Given the description of an element on the screen output the (x, y) to click on. 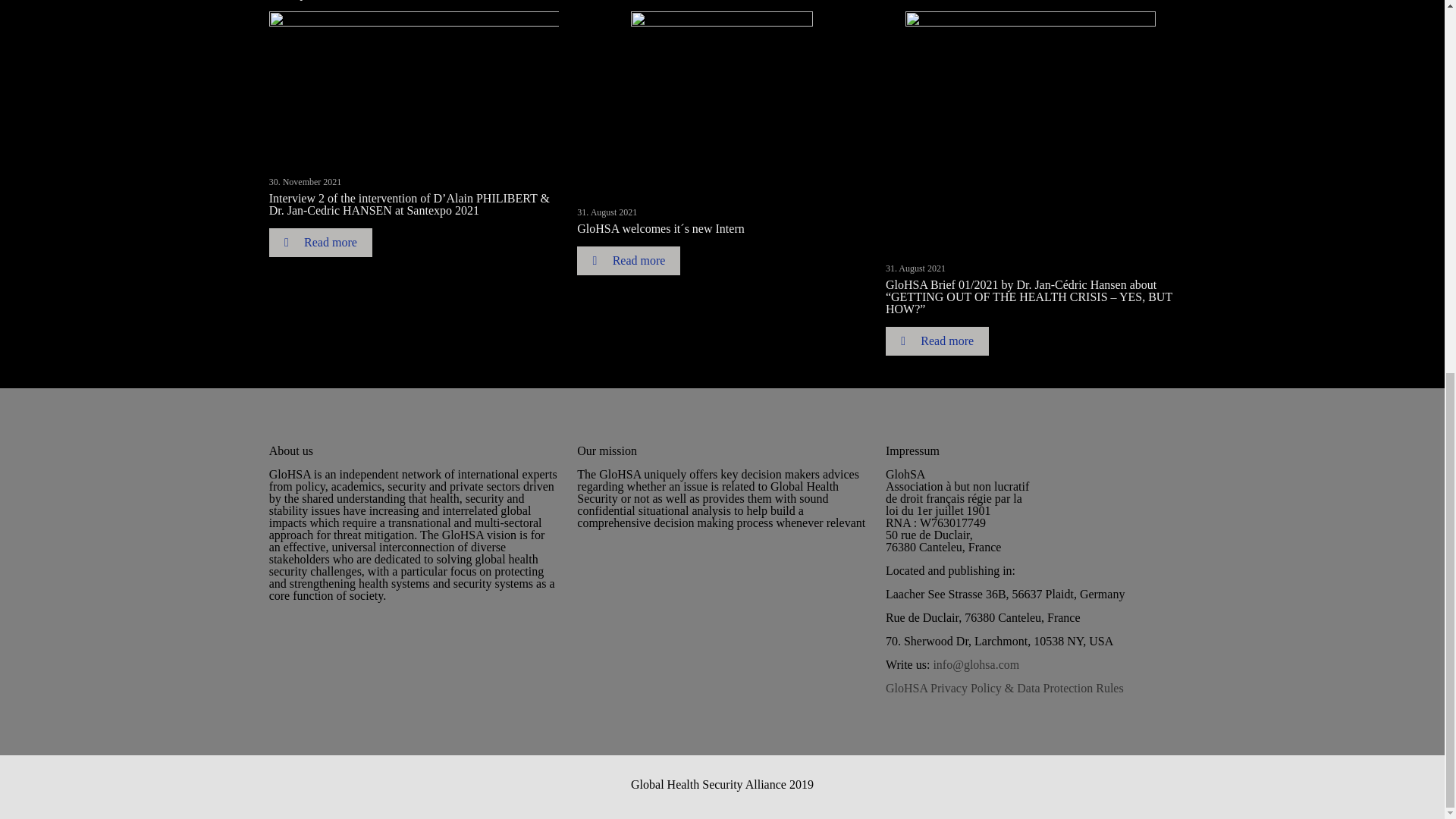
Read more (936, 340)
Read more (320, 242)
Read more (627, 260)
